Given the description of an element on the screen output the (x, y) to click on. 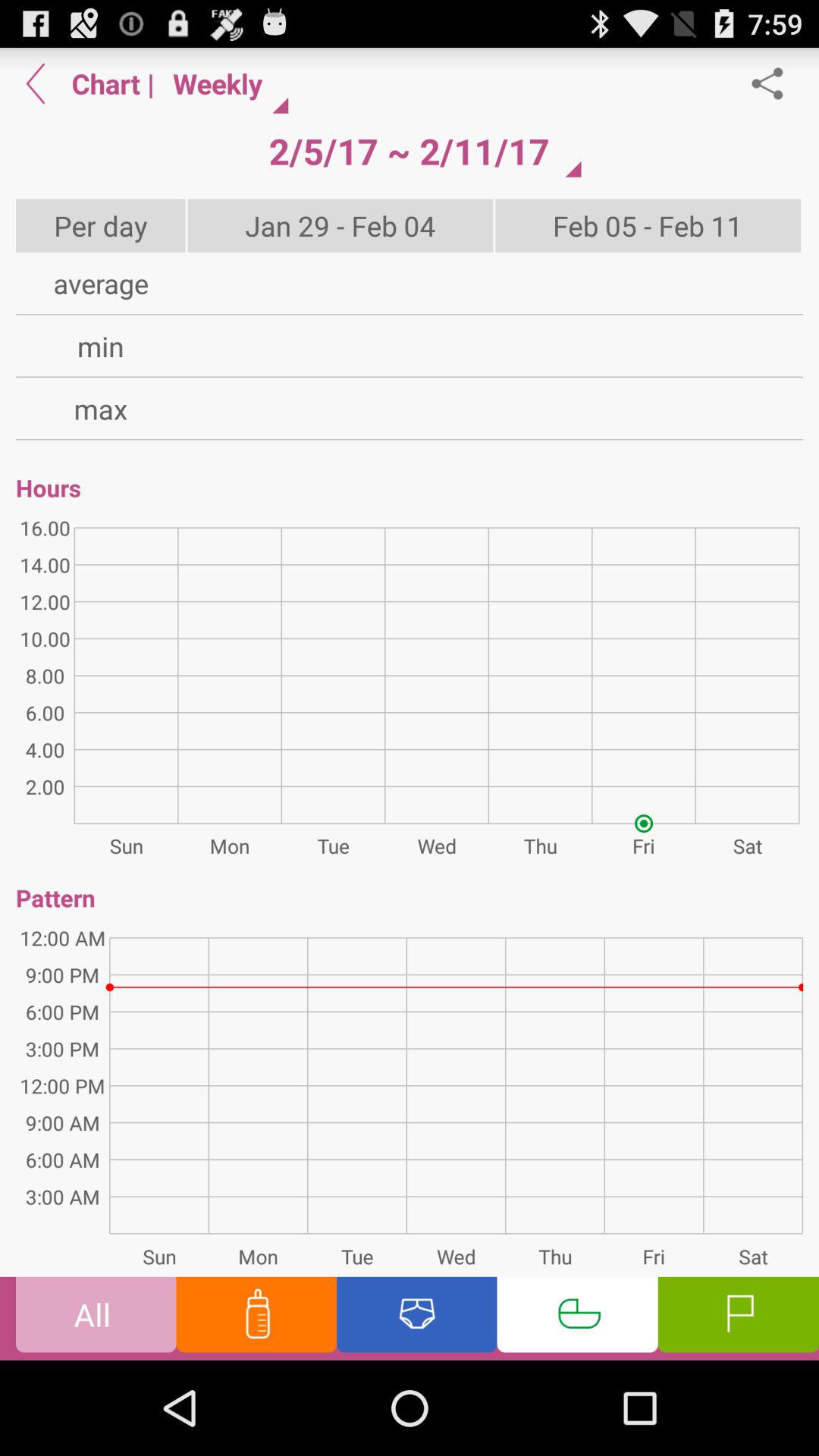
previous (35, 83)
